Given the description of an element on the screen output the (x, y) to click on. 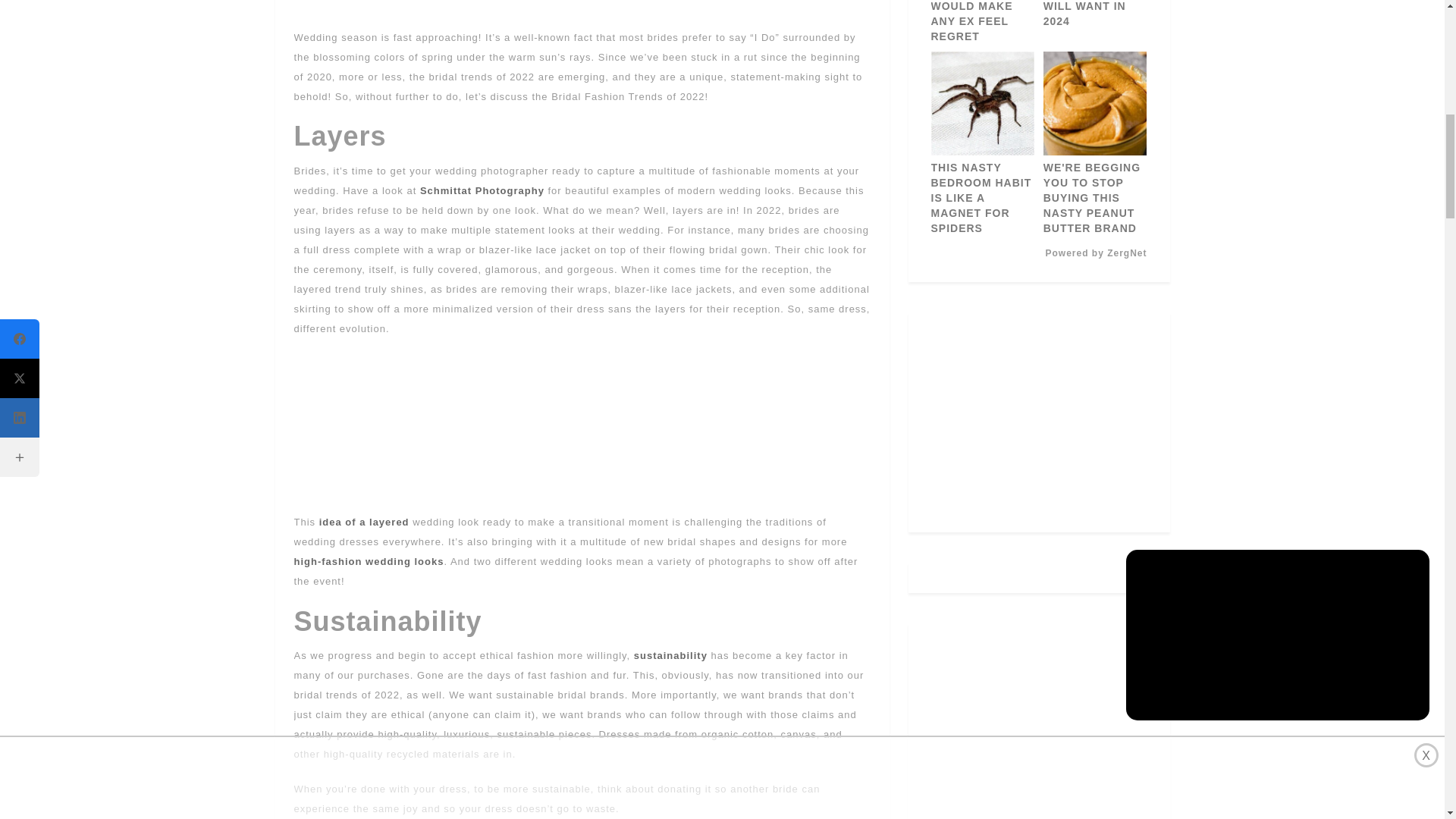
3rd party ad content (582, 6)
